Given the description of an element on the screen output the (x, y) to click on. 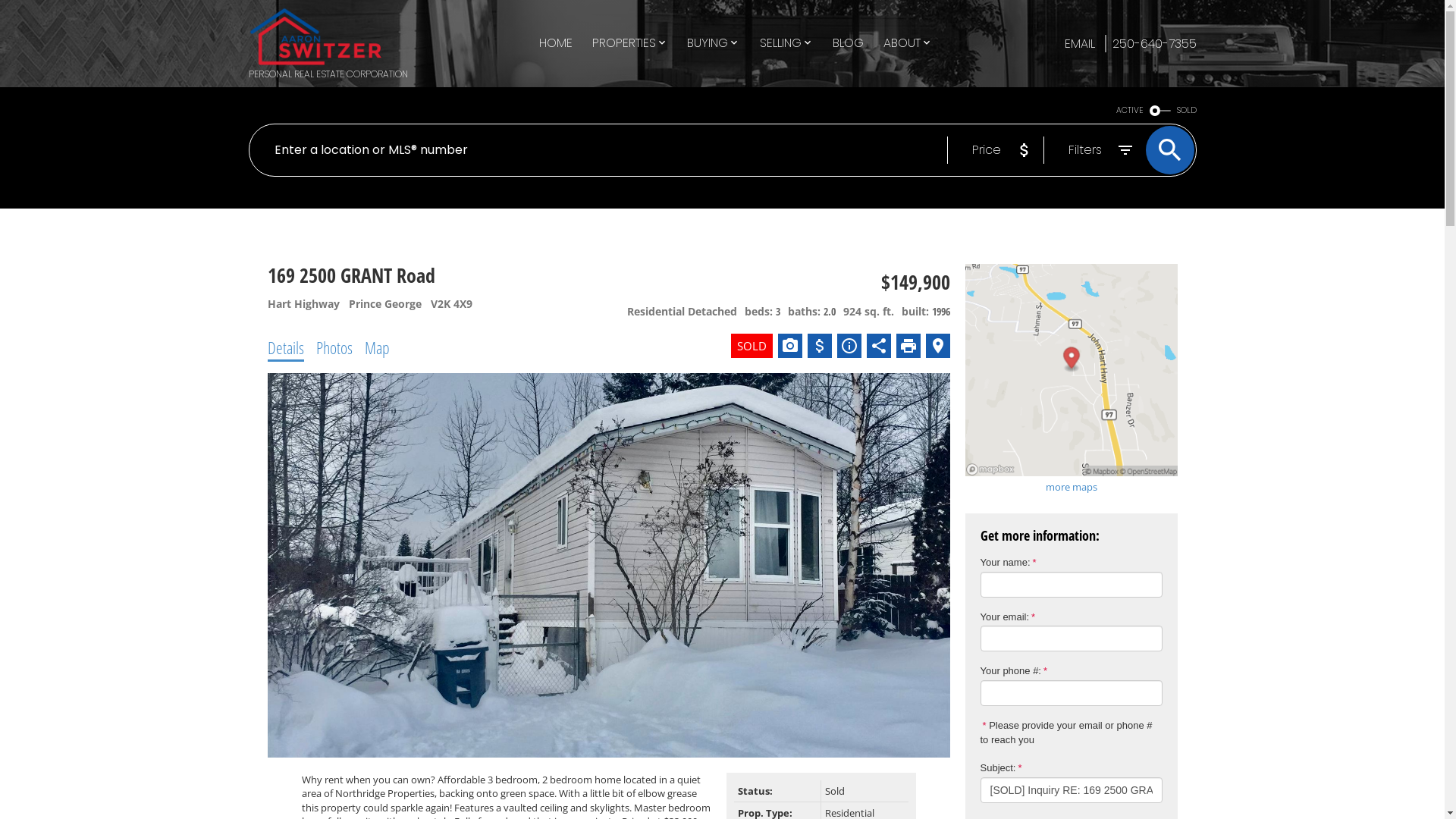
EMAIL Element type: text (1081, 43)
SOLD Element type: text (1186, 109)
HOME Element type: text (555, 43)
Print listing Element type: hover (908, 345)
Photos Element type: text (333, 346)
Share listing Element type: hover (878, 345)
View on the map Element type: hover (937, 345)
BLOG Element type: text (847, 43)
250-640-7355 Element type: text (1149, 43)
Contact for more info Element type: hover (849, 345)
Details Element type: text (284, 346)
View photo gallery Element type: hover (790, 345)
more maps Element type: text (1070, 486)
Map Element type: text (376, 346)
ACTIVE Element type: text (1129, 109)
Calculate Mortgage Element type: hover (818, 345)
